Given the description of an element on the screen output the (x, y) to click on. 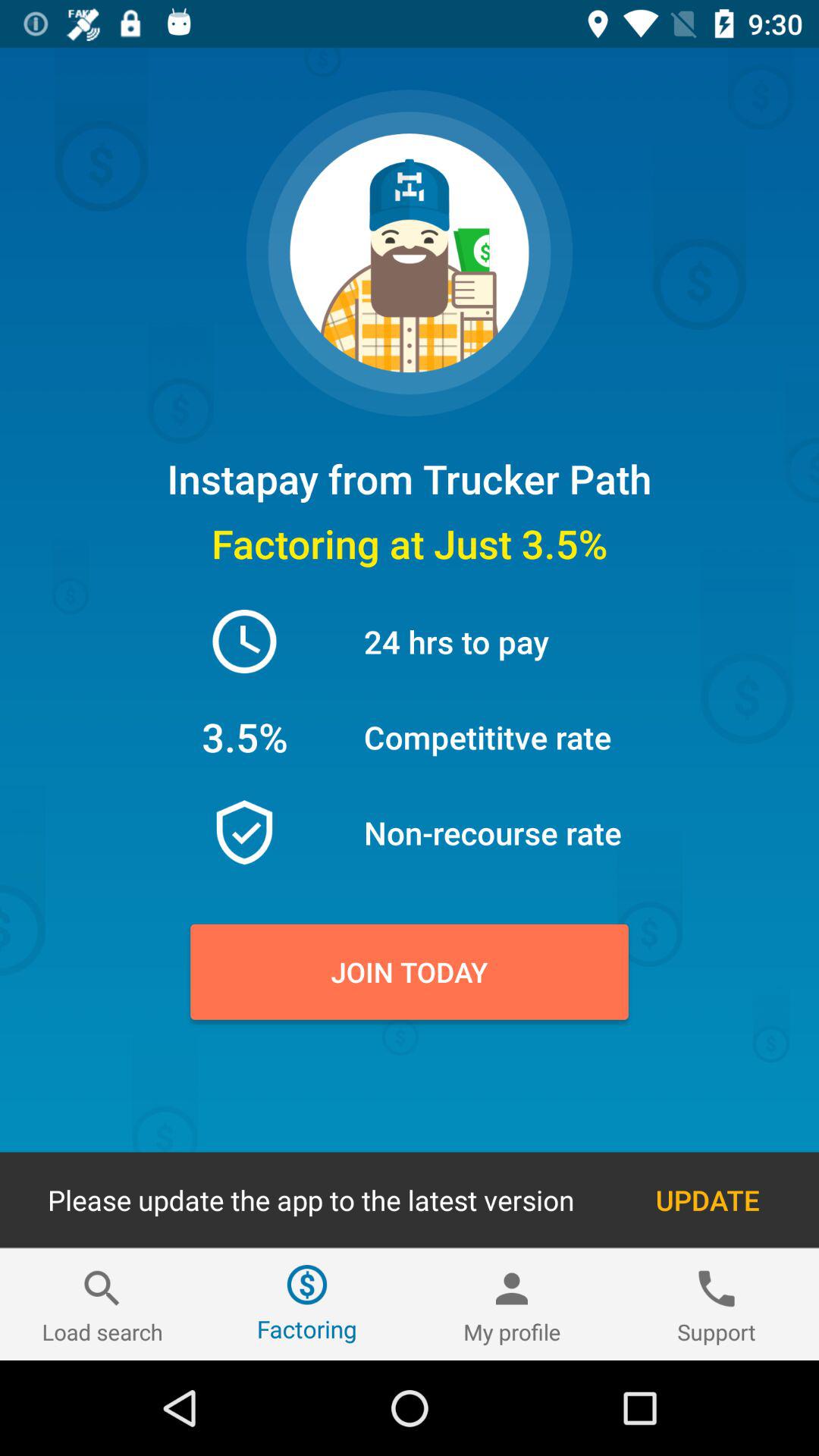
turn off join today icon (409, 971)
